Given the description of an element on the screen output the (x, y) to click on. 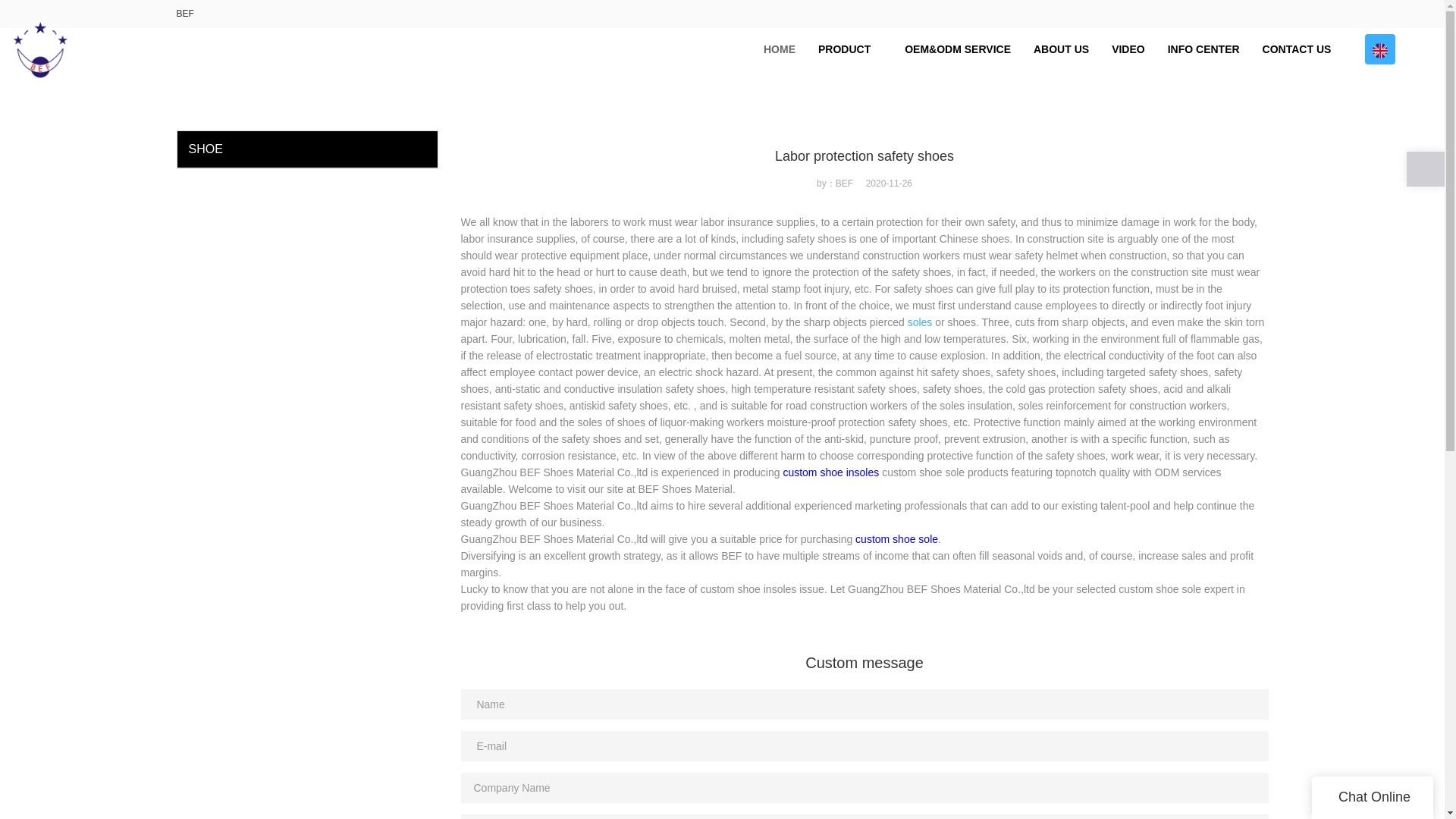
soles (920, 322)
custom shoe sole (896, 539)
INFO CENTER (1203, 49)
BEF (184, 13)
custom shoe insoles (831, 472)
ABOUT US (1061, 49)
CONTACT US (1296, 49)
PRODUCT (849, 49)
